Given the description of an element on the screen output the (x, y) to click on. 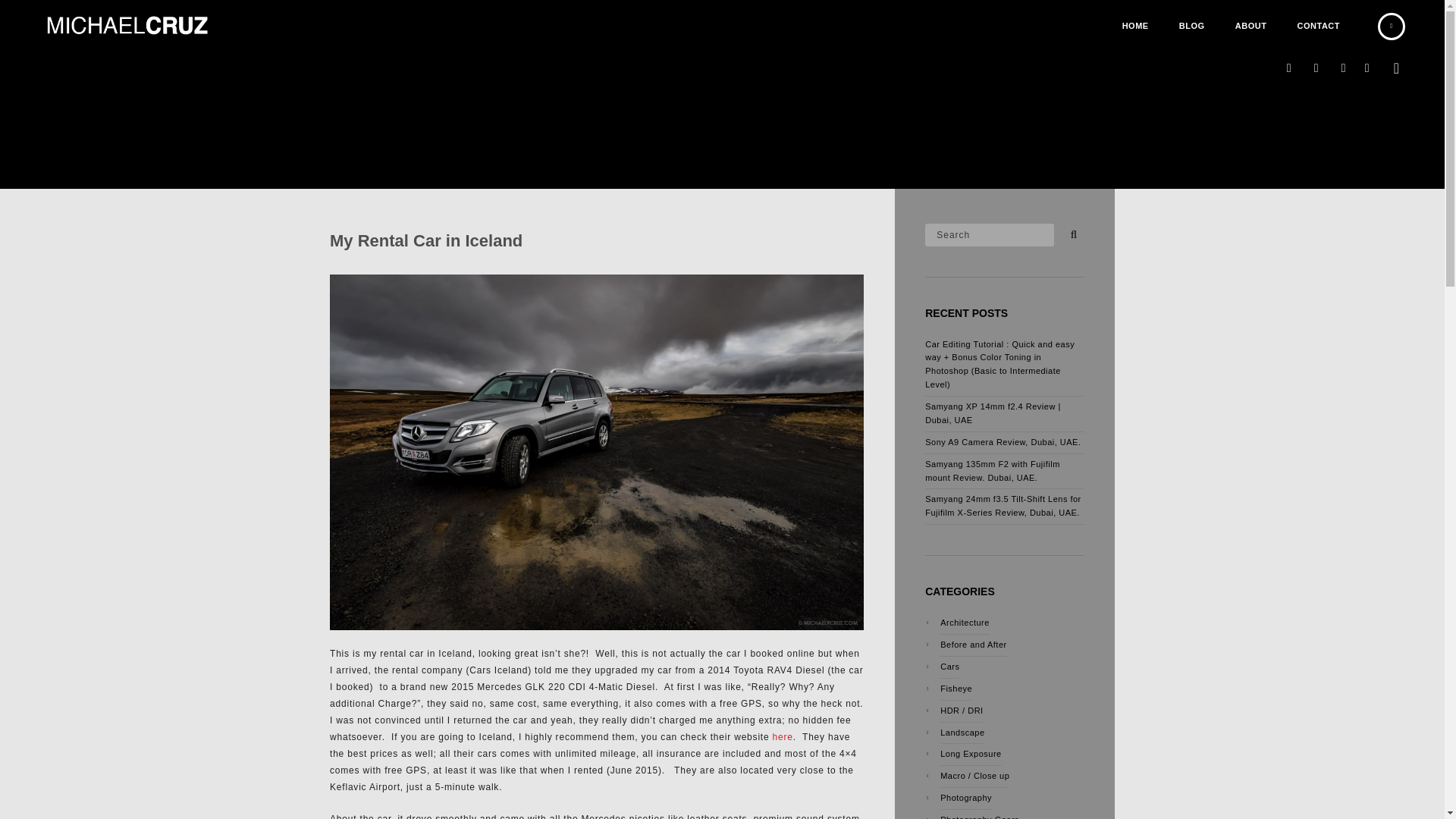
Flickr (1315, 68)
Facebook (1366, 68)
CONTACT (1319, 26)
Search (1070, 231)
ABOUT (1251, 26)
Search (989, 233)
Instagram (1289, 68)
Home Page (1134, 26)
Twitter (1343, 68)
HOME (1134, 26)
